Given the description of an element on the screen output the (x, y) to click on. 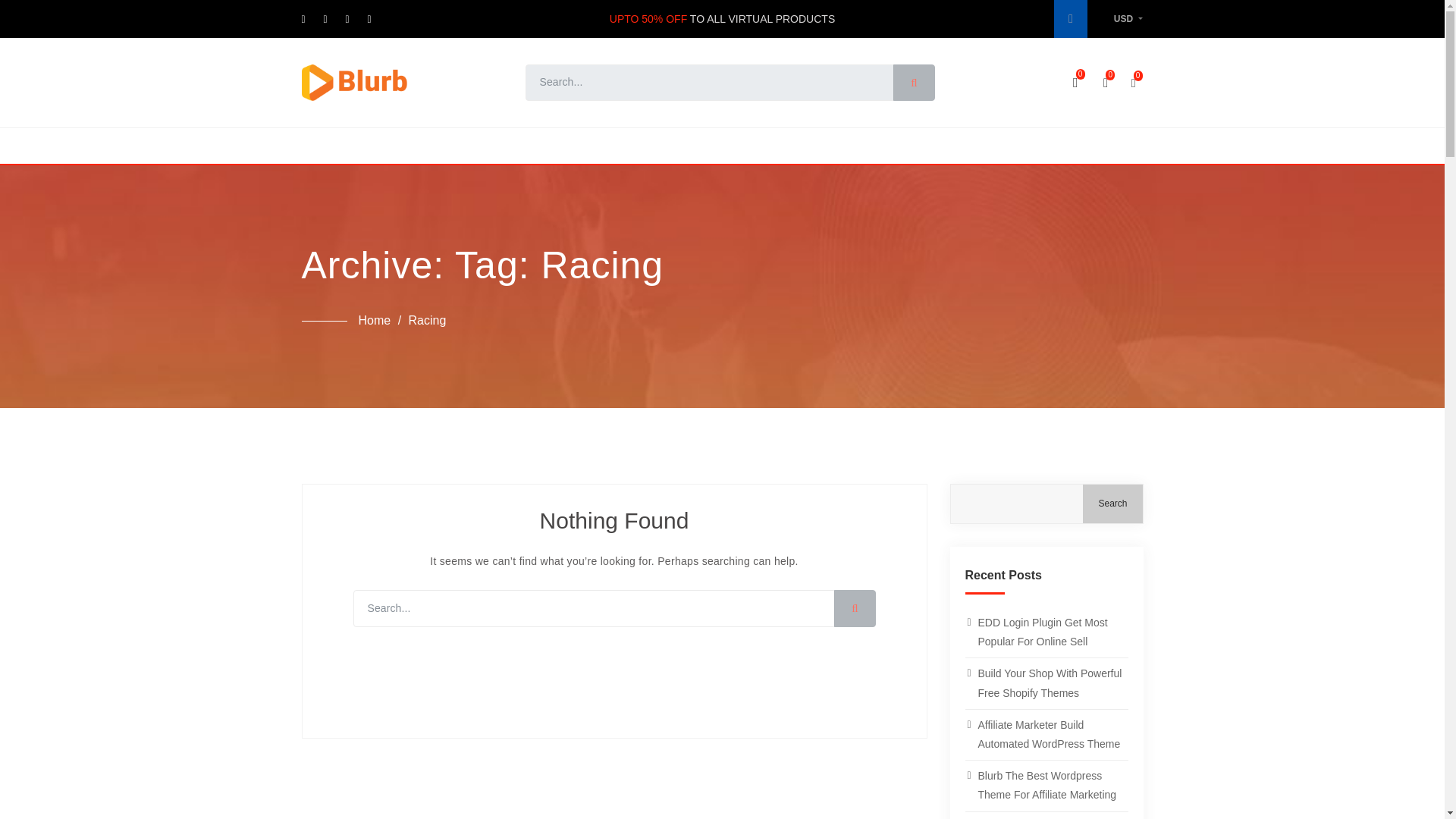
Build Your Shop With Powerful Free Shopify Themes (1044, 683)
EDD Login Plugin Get Most Popular For Online Sell (1044, 632)
Are You Looking For Multi Vendor Store Theme (1044, 815)
Blurb The Best Wordpress Theme For Affiliate Marketing (1044, 785)
USD (1127, 19)
Affiliate Marketer Build Automated WordPress Theme (1044, 735)
Home (374, 321)
Search (1112, 503)
